Given the description of an element on the screen output the (x, y) to click on. 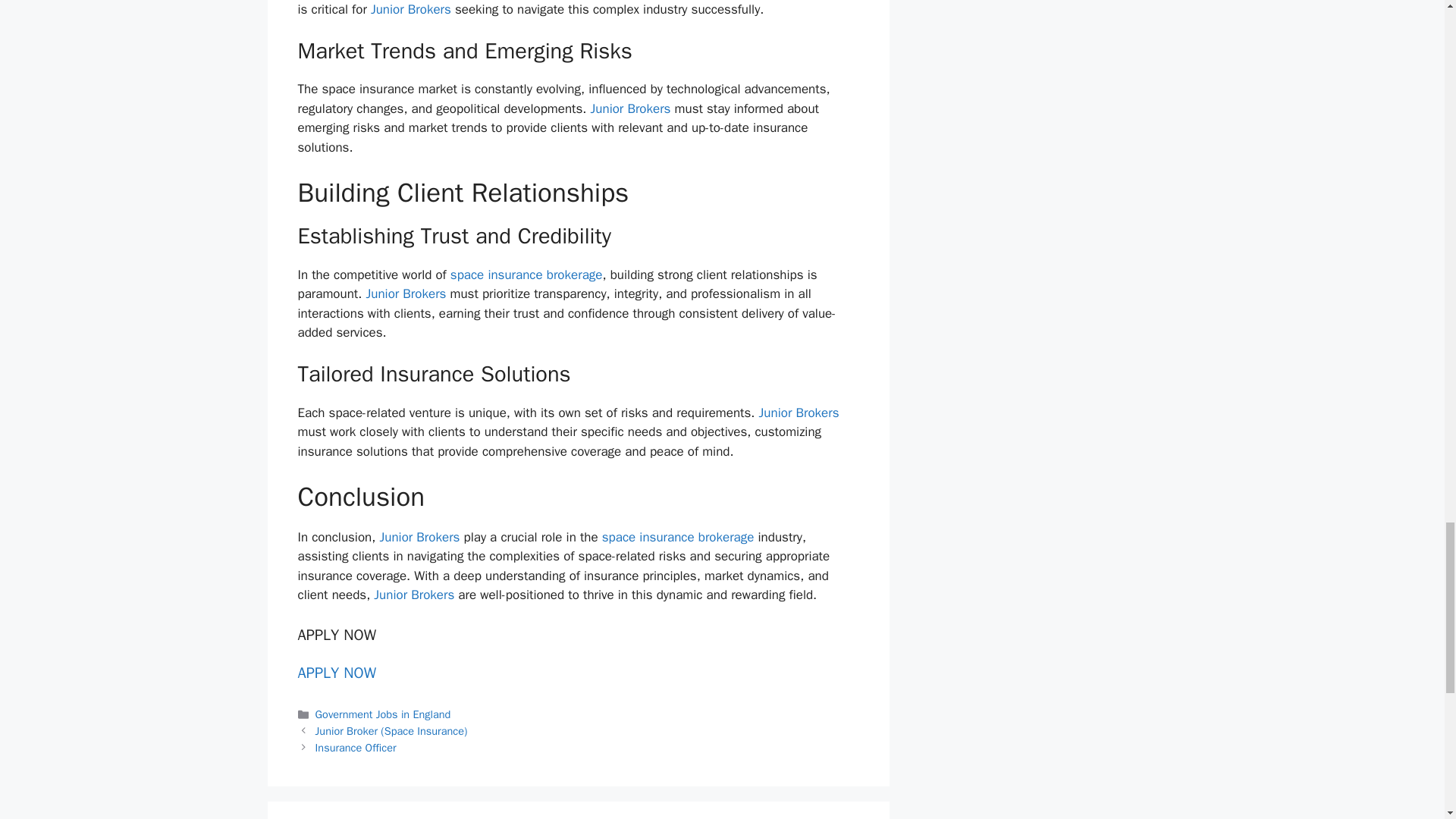
Junior Brokers (407, 293)
space insurance brokerage (678, 537)
space insurance brokerage (525, 274)
Junior Brokers (633, 108)
Junior Brokers (411, 9)
Junior Brokers (799, 412)
Junior Brokers (414, 594)
Junior Brokers (419, 537)
